Given the description of an element on the screen output the (x, y) to click on. 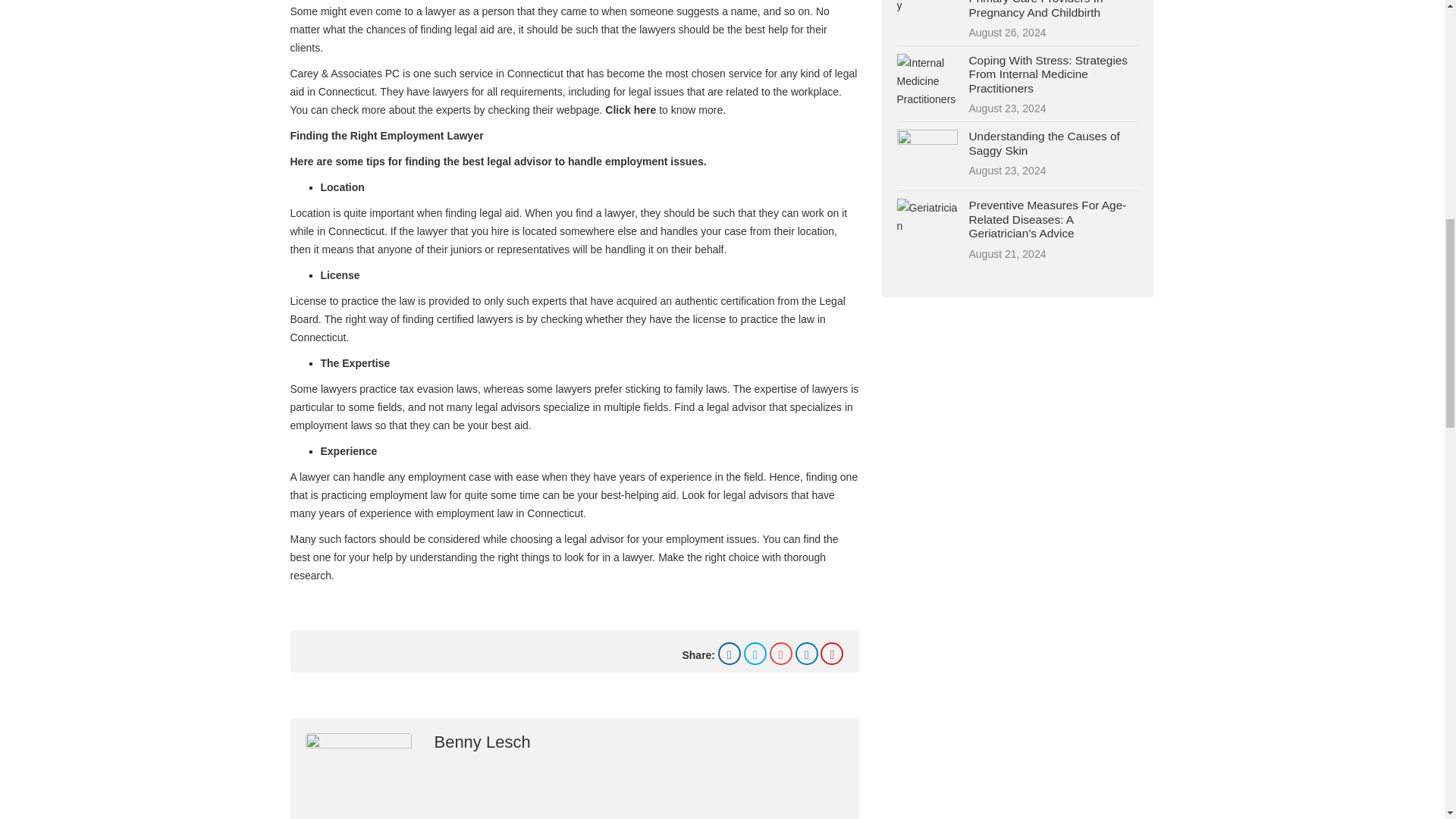
Linkedin (806, 653)
Twitter (755, 653)
Benny Lesch (481, 741)
Pinterest (832, 653)
Facebook (729, 653)
Click here (630, 110)
Google Plus (781, 653)
